Given the description of an element on the screen output the (x, y) to click on. 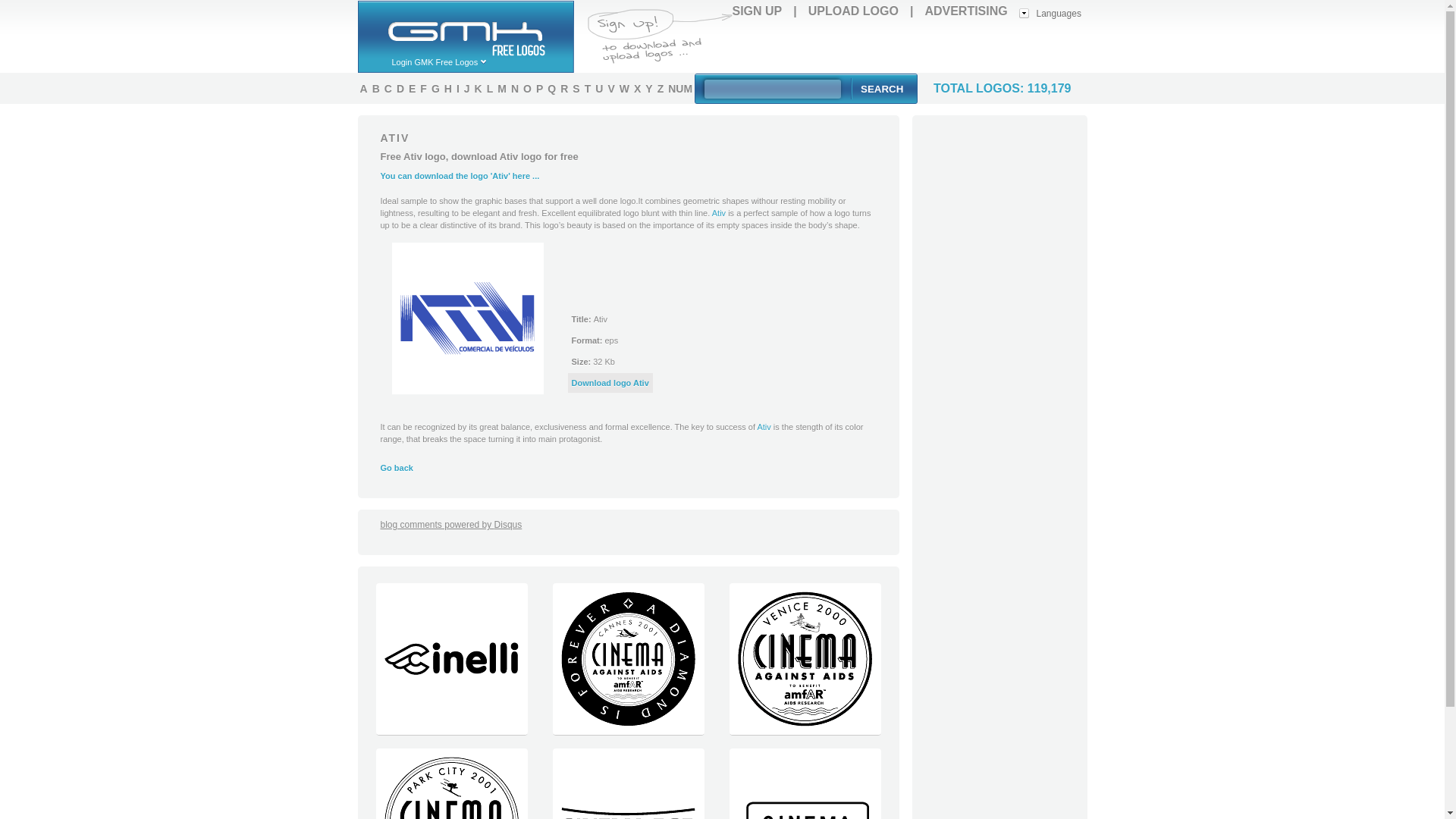
Download Ativ (610, 382)
Download Logo Cinema Against AIDS (627, 730)
Download Logo Cinelli (450, 730)
SIGN UP (757, 10)
Home (471, 28)
Languages (1050, 12)
Go back (396, 467)
You can download the logo 'Ativ' here ... (460, 175)
ADVERTISING (965, 10)
UPLOAD LOGO (853, 10)
